Given the description of an element on the screen output the (x, y) to click on. 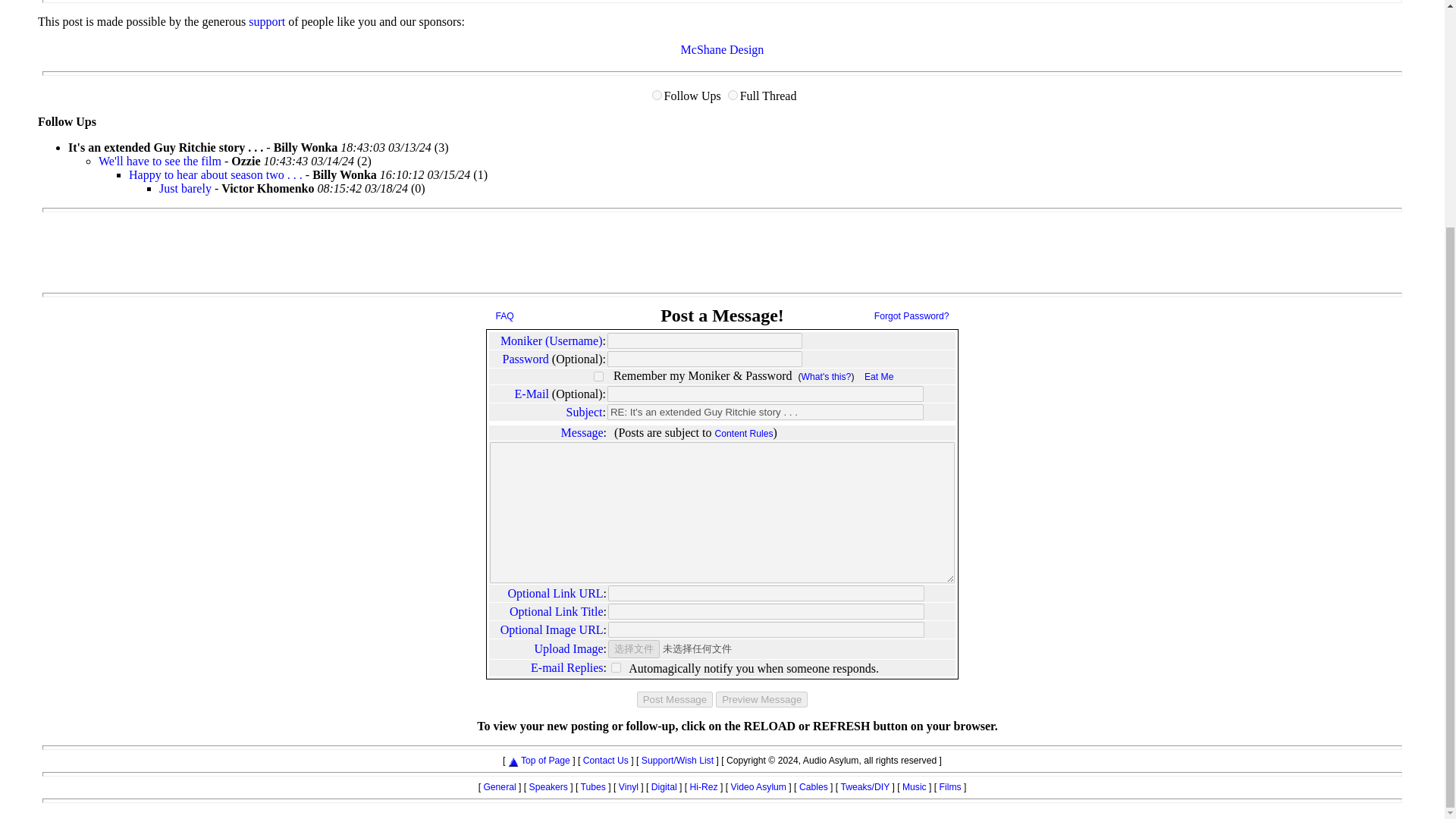
Password (525, 358)
What's this? (826, 376)
McShane Design (722, 49)
Optional Link Title (556, 611)
Post Message (675, 699)
FAQ (504, 316)
Message (582, 431)
full (733, 94)
We'll have to see the film (160, 160)
Just barely (184, 187)
Eat Me (878, 376)
Happy to hear about season two . . . (217, 174)
support (266, 21)
Upload Image (569, 648)
Subject (584, 411)
